Given the description of an element on the screen output the (x, y) to click on. 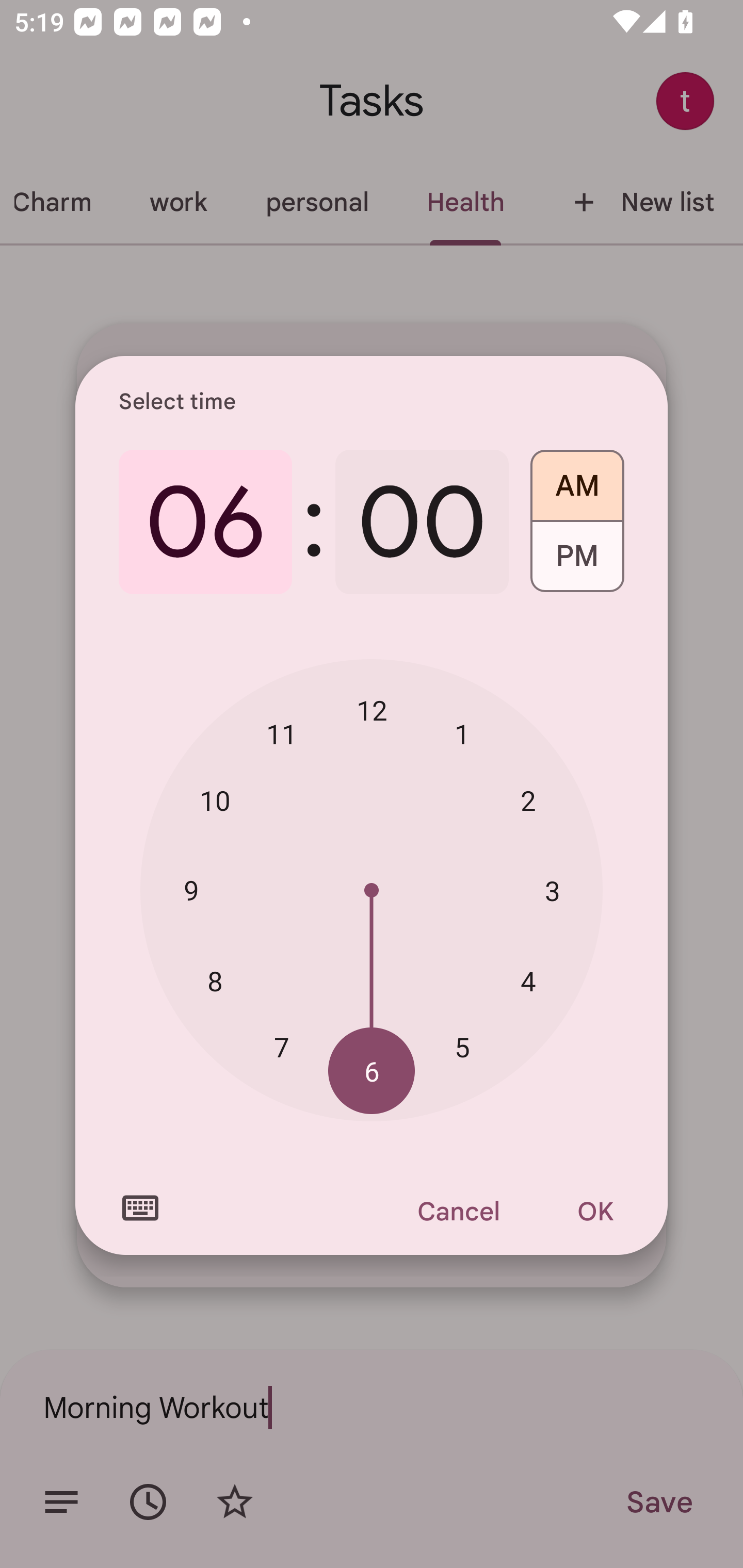
AM (577, 478)
06 6 o'clock (204, 522)
00 0 minutes (421, 522)
PM (577, 563)
12 12 o'clock (371, 710)
11 11 o'clock (281, 733)
1 1 o'clock (462, 733)
10 10 o'clock (214, 800)
2 2 o'clock (528, 800)
9 9 o'clock (190, 889)
3 3 o'clock (551, 890)
8 8 o'clock (214, 980)
4 4 o'clock (528, 980)
7 7 o'clock (281, 1046)
5 5 o'clock (462, 1046)
6 6 o'clock (371, 1071)
Switch to text input mode for the time input. (140, 1208)
Cancel (458, 1211)
OK (595, 1211)
